Given the description of an element on the screen output the (x, y) to click on. 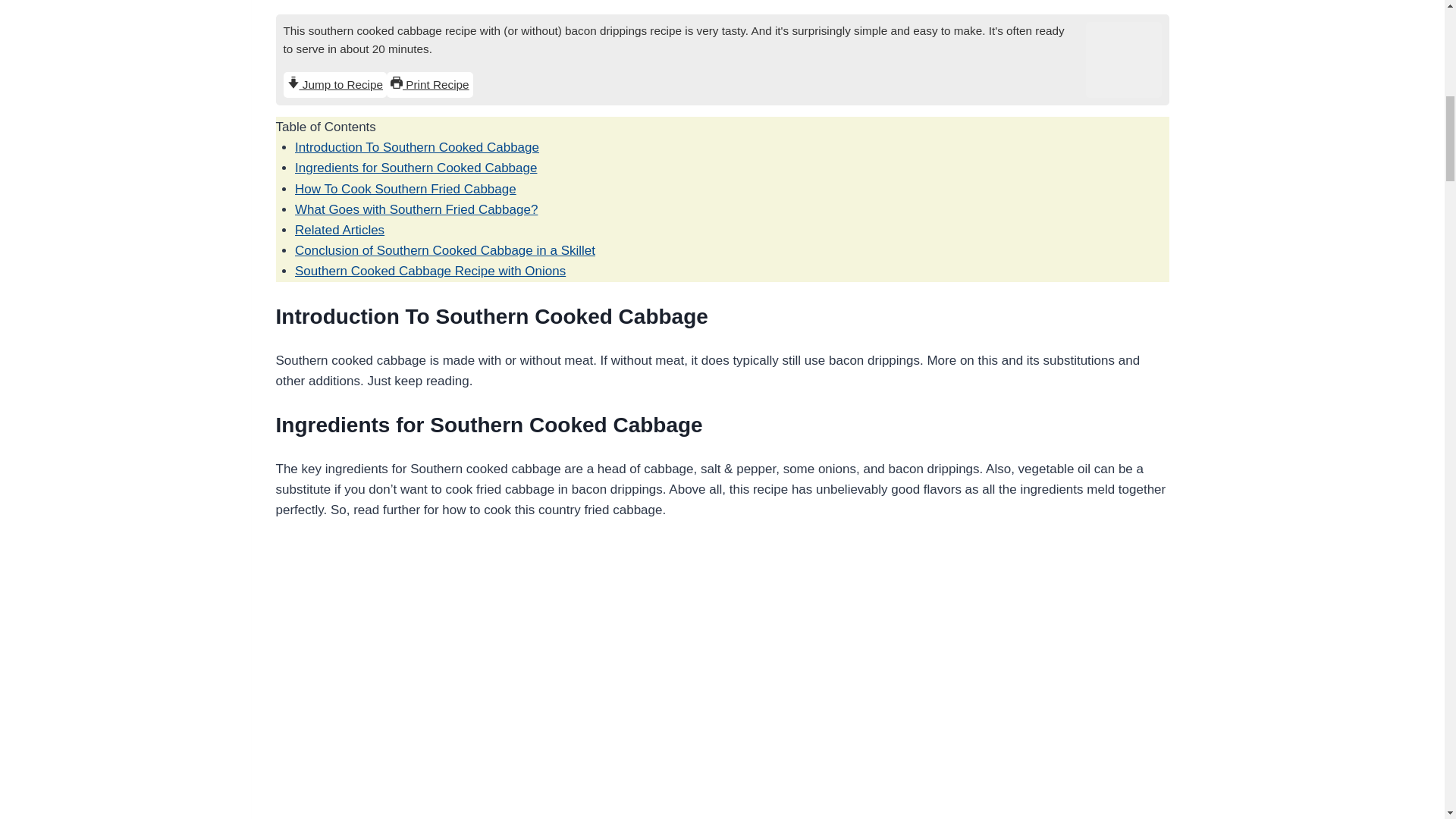
Ingredients for Southern Cooked Cabbage (416, 167)
Southern Cooked Cabbage Recipe with Onions (430, 270)
What Goes with Southern Fried Cabbage? (416, 209)
Conclusion of Southern Cooked Cabbage in a Skillet (445, 250)
Jump to Recipe (335, 84)
Introduction To Southern Cooked Cabbage (416, 147)
Print Recipe (430, 84)
southern cooked cabbage recipe (1123, 59)
Related Articles (339, 229)
How To Cook Southern Fried Cabbage (405, 188)
